Given the description of an element on the screen output the (x, y) to click on. 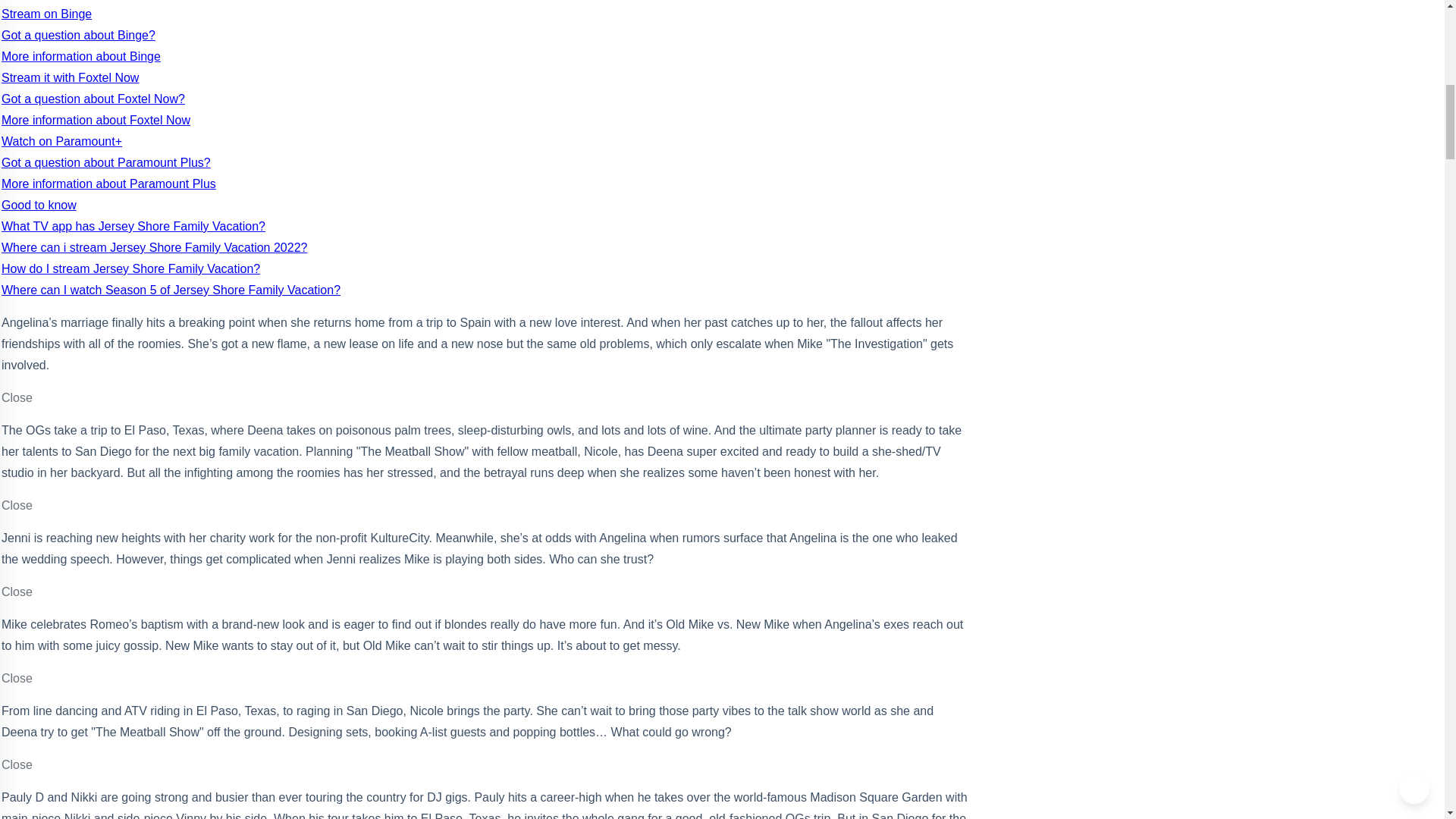
Got a question about Foxtel Now? (92, 98)
More information about Foxtel Now (95, 119)
Good to know (39, 205)
Got a question about Binge? (78, 34)
Stream it with Foxtel Now (69, 77)
Got a question about Paramount Plus? (106, 162)
Stream on Binge (46, 13)
More information about Binge (80, 56)
More information about Paramount Plus (108, 183)
